Given the description of an element on the screen output the (x, y) to click on. 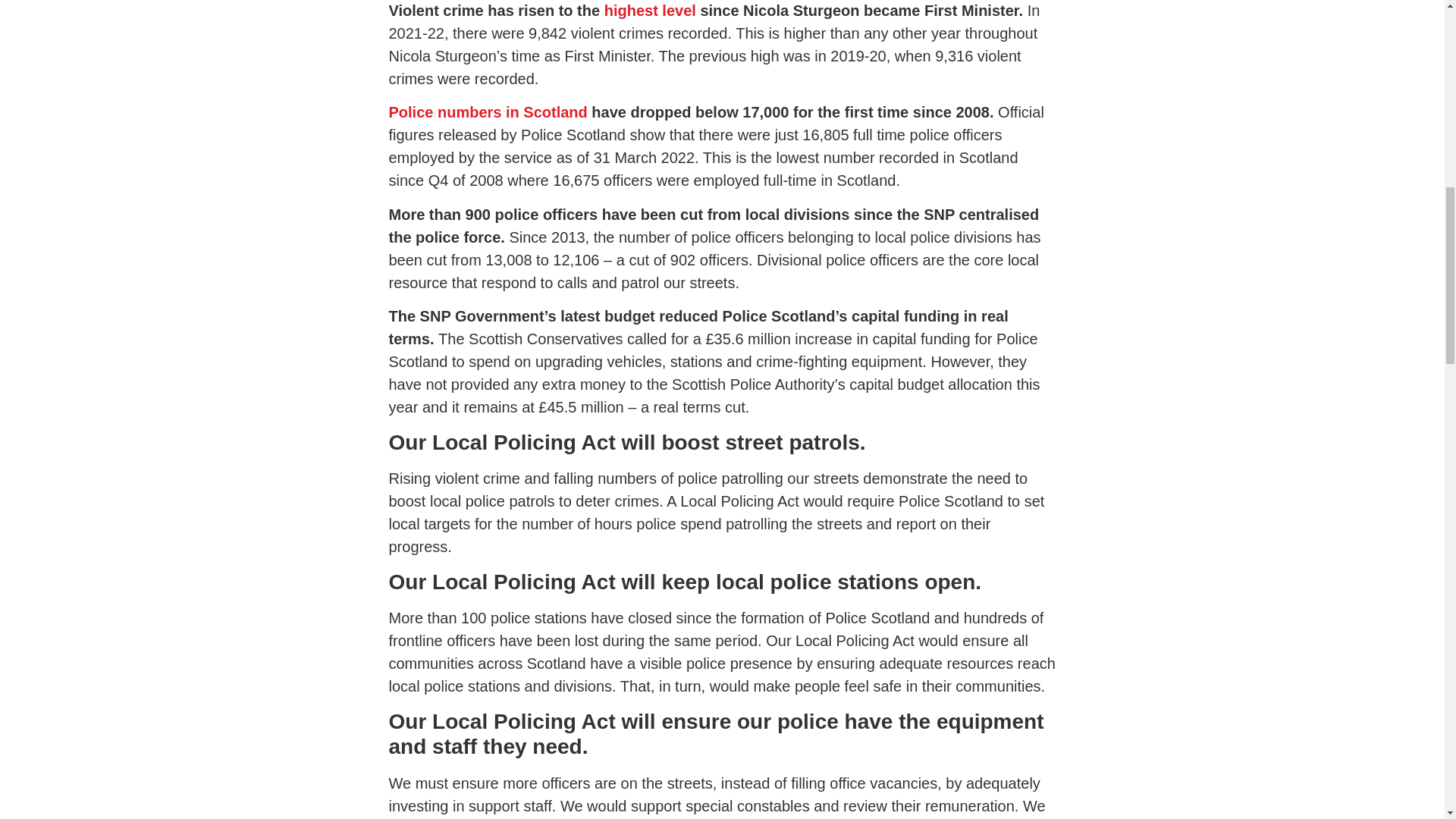
highest level (649, 10)
Police numbers in Scotland (487, 112)
